Given the description of an element on the screen output the (x, y) to click on. 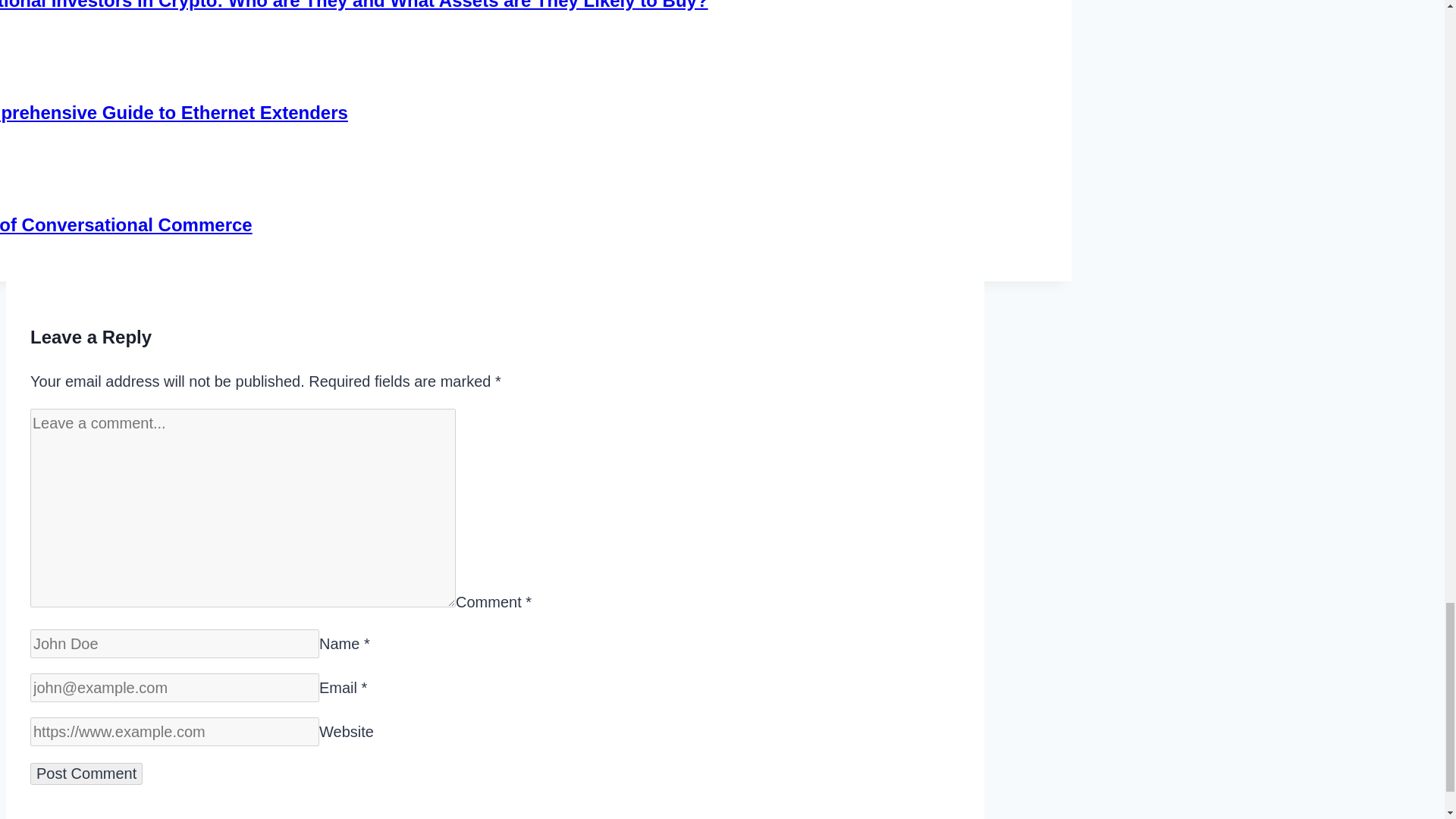
Types of Conversational Commerce (125, 224)
Post Comment (86, 773)
A Comprehensive Guide to Ethernet Extenders (173, 112)
Post Comment (86, 773)
